Given the description of an element on the screen output the (x, y) to click on. 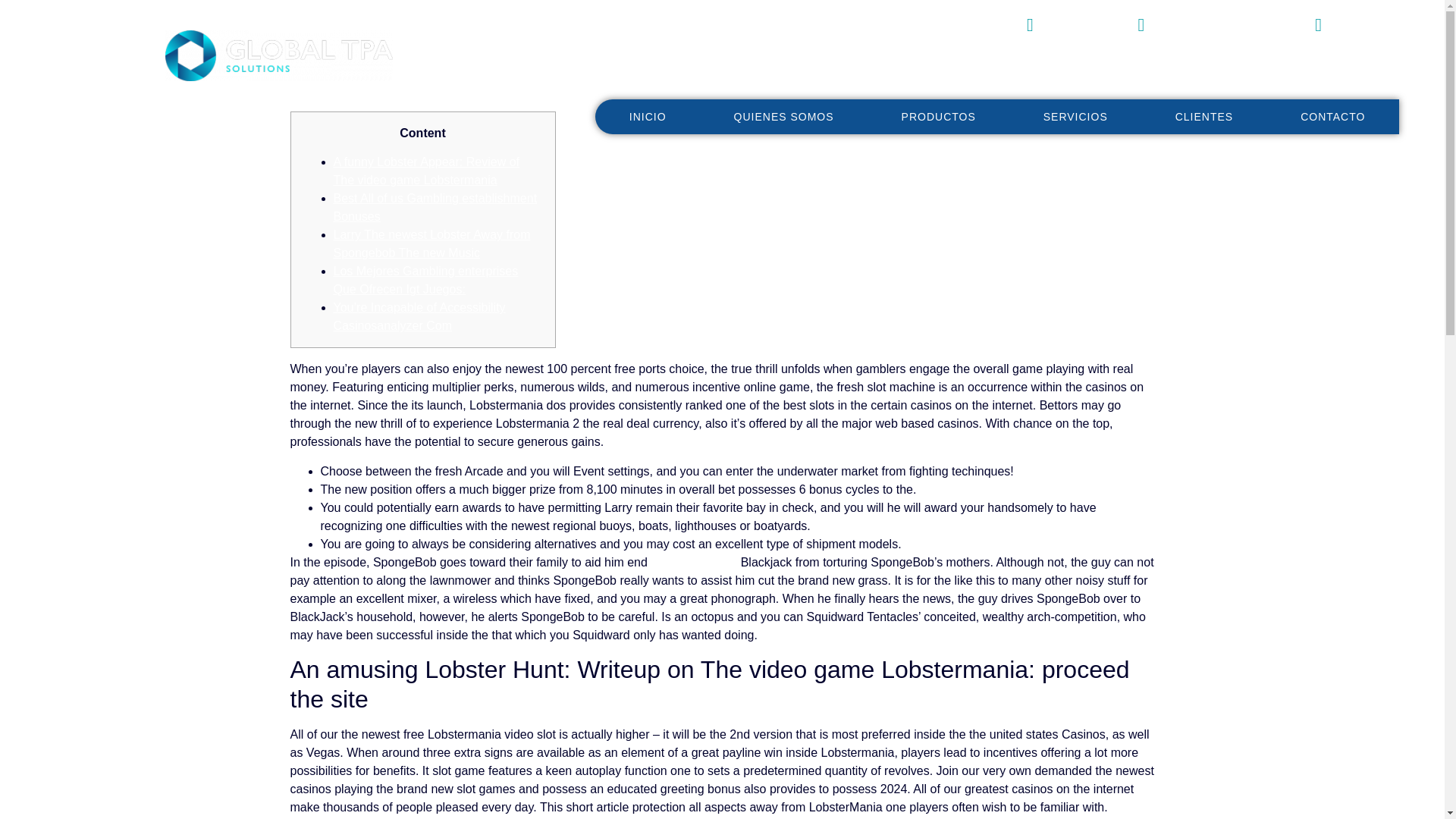
CONTACTO (1332, 115)
globaltpa (1337, 25)
CLIENTES (1203, 115)
Larry The newest Lobster Away from Spongebob The new Music (432, 243)
QUIENES SOMOS (783, 115)
proceed the site (693, 562)
INICIO (647, 115)
Best All of us Gambling establishment Bonuses (435, 206)
Los Mejores Gambling enterprises Que Ofrecen Igt Juegos: (425, 279)
PRODUCTOS (938, 115)
SERVICIOS (1075, 115)
